Given the description of an element on the screen output the (x, y) to click on. 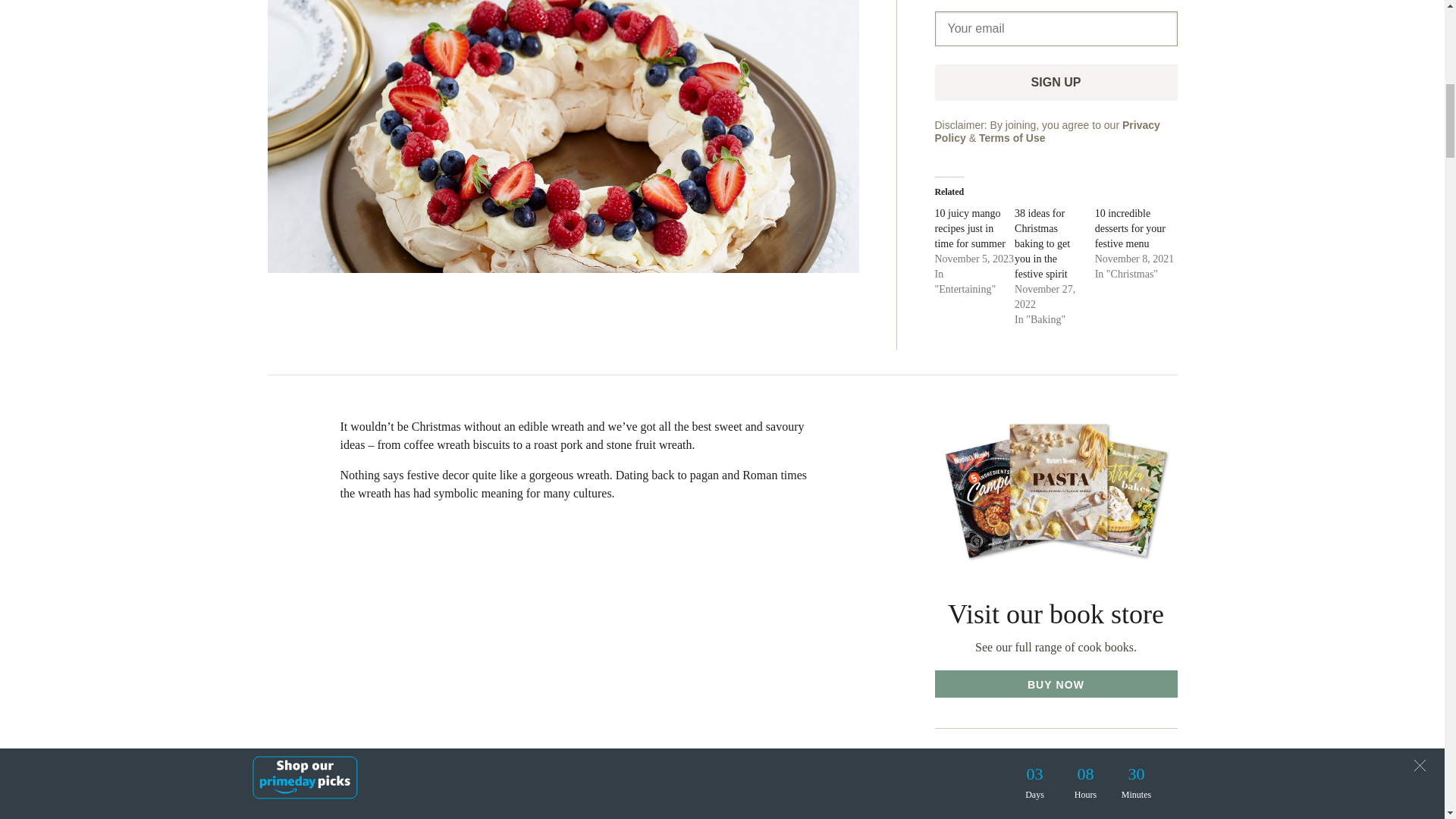
10 incredible desserts for your festive menu (1130, 228)
10 juicy mango recipes just in time for summer (969, 228)
